Given the description of an element on the screen output the (x, y) to click on. 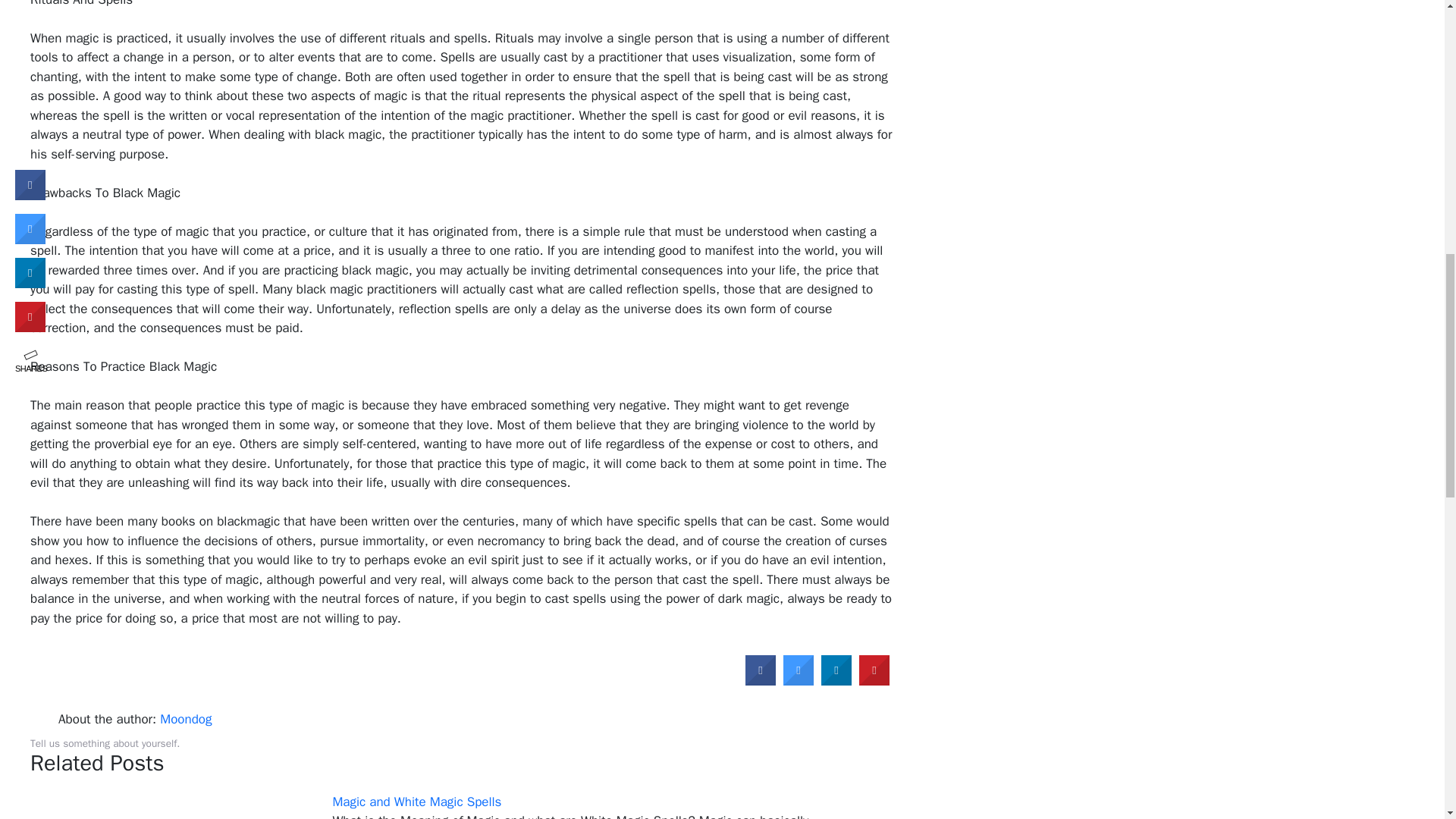
Share on Pinterest (874, 680)
Share on Facebook (760, 680)
Share to LinkedIn (836, 680)
Share on Twitter (798, 680)
